Given the description of an element on the screen output the (x, y) to click on. 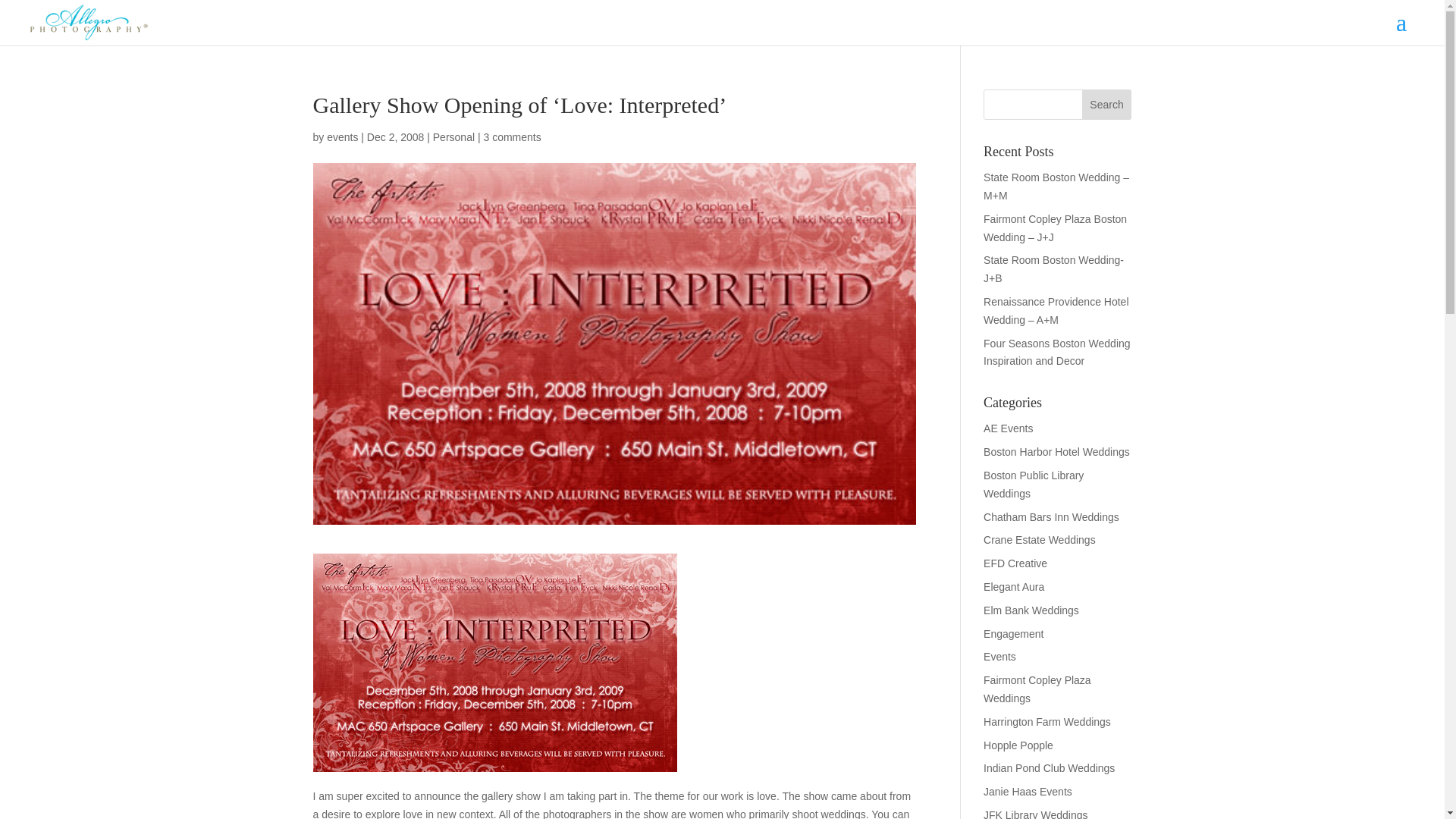
Search (1106, 104)
love-interpreted (495, 662)
3 comments (511, 137)
Search (1106, 104)
Personal (453, 137)
events (342, 137)
Posts by events (342, 137)
